Given the description of an element on the screen output the (x, y) to click on. 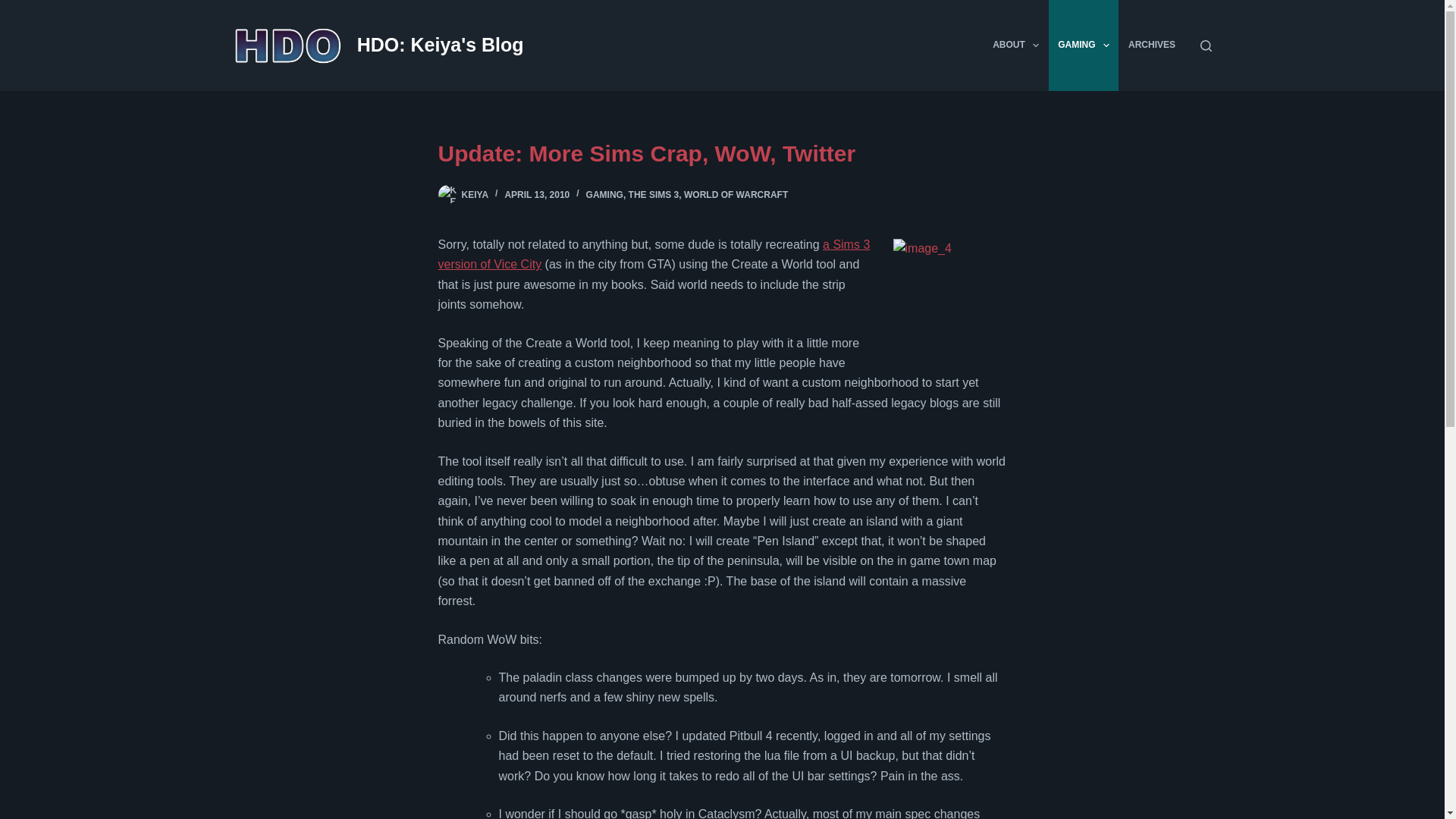
ABOUT (1016, 45)
HDO: Keiya's Blog (440, 44)
Posts by Keiya (474, 194)
Skip to content (15, 7)
ARCHIVES (1151, 45)
Update: More Sims Crap, WoW, Twitter (722, 153)
GAMING (1083, 45)
